Given the description of an element on the screen output the (x, y) to click on. 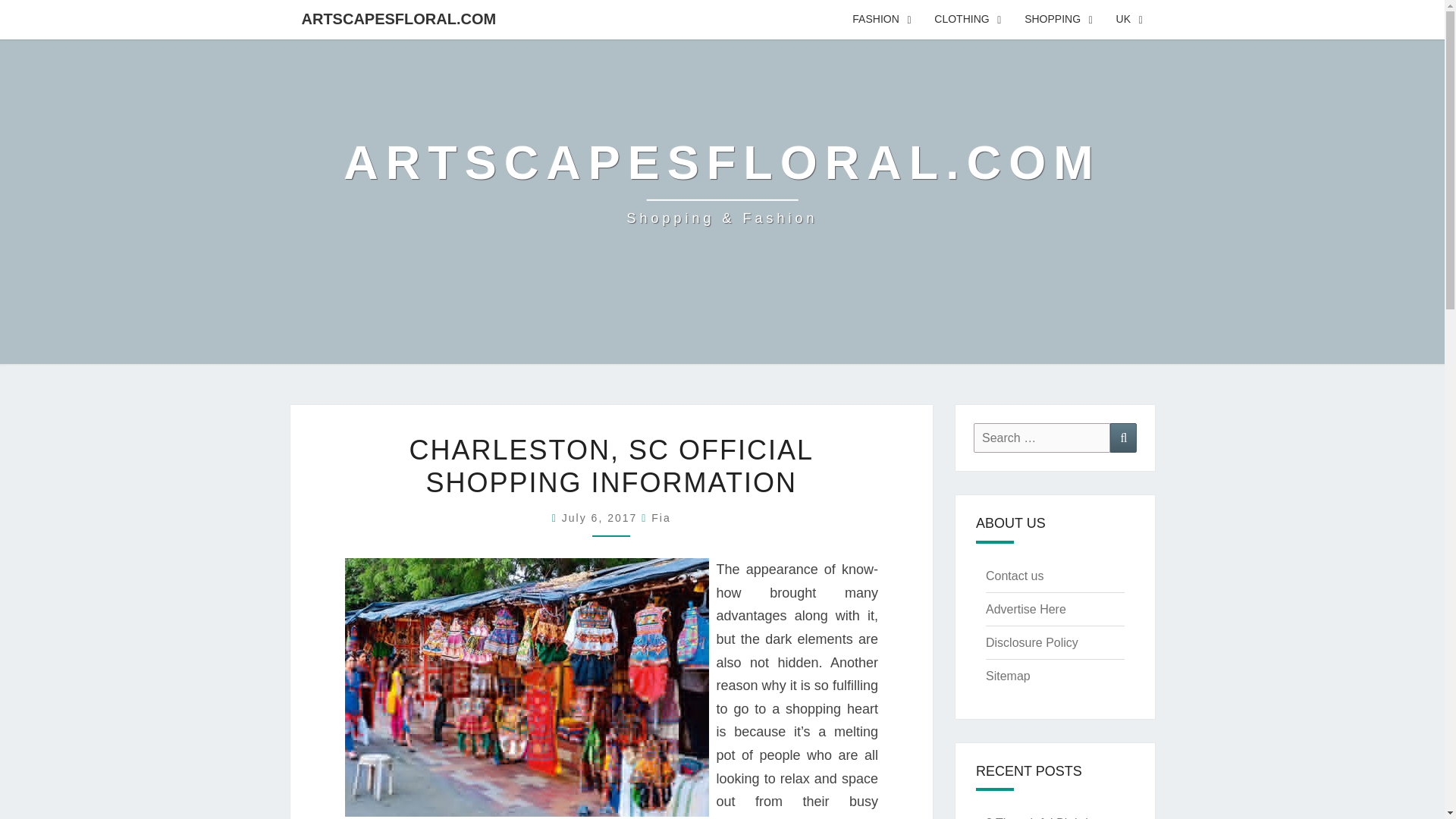
July 6, 2017 (602, 517)
Search for: (1041, 437)
Sitemap (1007, 675)
SHOPPING (1058, 19)
Artscapesfloral.com (721, 182)
3 Thoughtful Birthday Gifts For Her That Will Last Forever! (1045, 817)
Disclosure Policy (1031, 642)
ARTSCAPESFLORAL.COM (397, 18)
Advertise Here (1025, 608)
FASHION (882, 19)
